Given the description of an element on the screen output the (x, y) to click on. 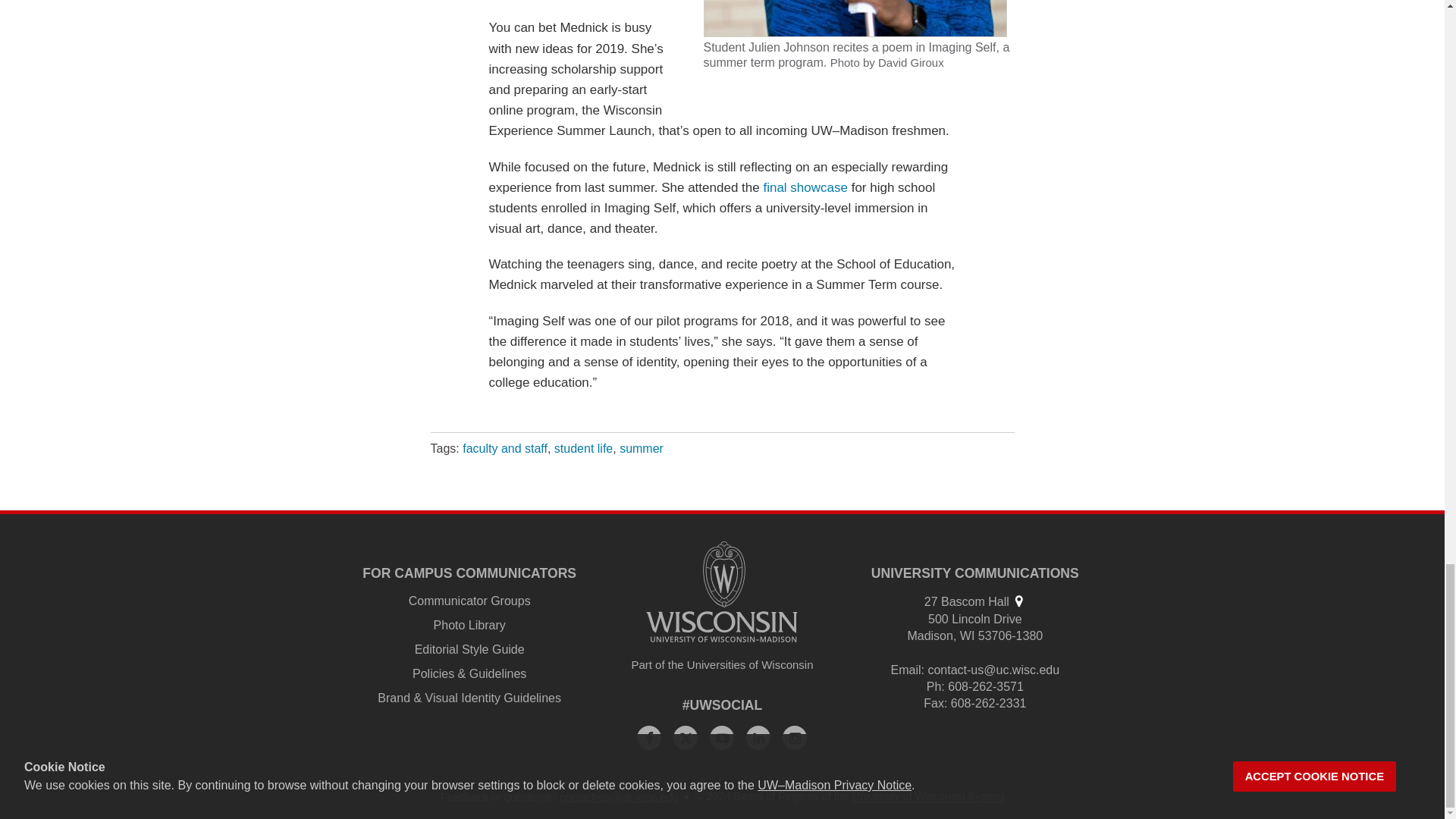
Editorial Style Guide (469, 649)
Photo Library (469, 625)
Social media links (722, 704)
student life (583, 448)
faculty and staff (505, 448)
Communicator Groups (470, 600)
final showcase (804, 187)
University logo that links to main university website (721, 591)
summer (641, 448)
phone (934, 686)
Instagram (794, 737)
X, formerly Twitter (684, 737)
Linked In (757, 737)
Facebook (649, 737)
Wisconsin (967, 635)
